Given the description of an element on the screen output the (x, y) to click on. 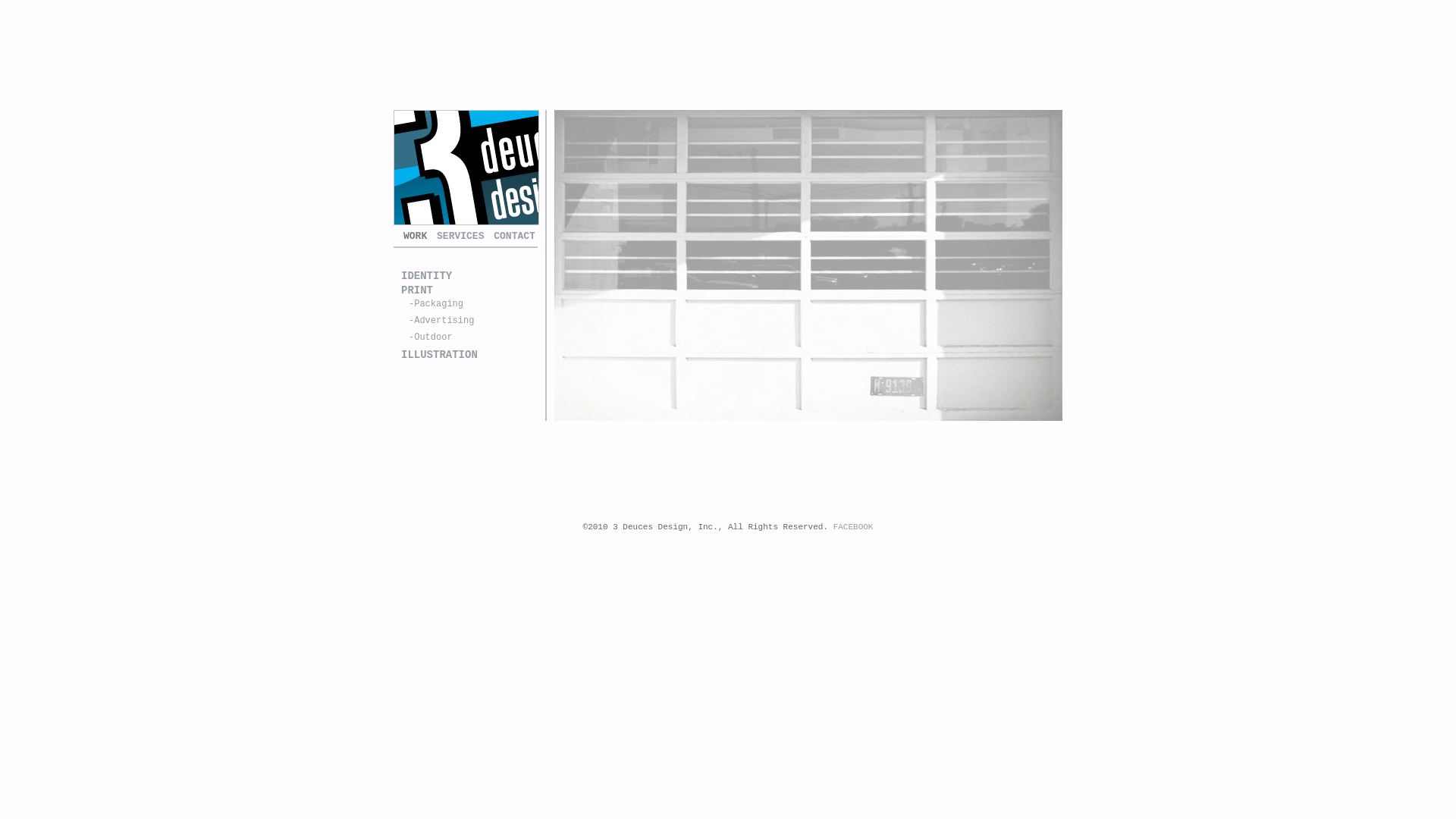
PRINT Element type: text (417, 290)
FACEBOOK Element type: text (853, 526)
SERVICES Element type: text (459, 235)
-Outdoor Element type: text (430, 337)
-Advertising Element type: text (440, 320)
CONTACT Element type: text (514, 235)
IDENTITY Element type: text (426, 275)
-Packaging Element type: text (435, 303)
WORK Element type: text (414, 235)
ILLUSTRATION Element type: text (439, 354)
